Given the description of an element on the screen output the (x, y) to click on. 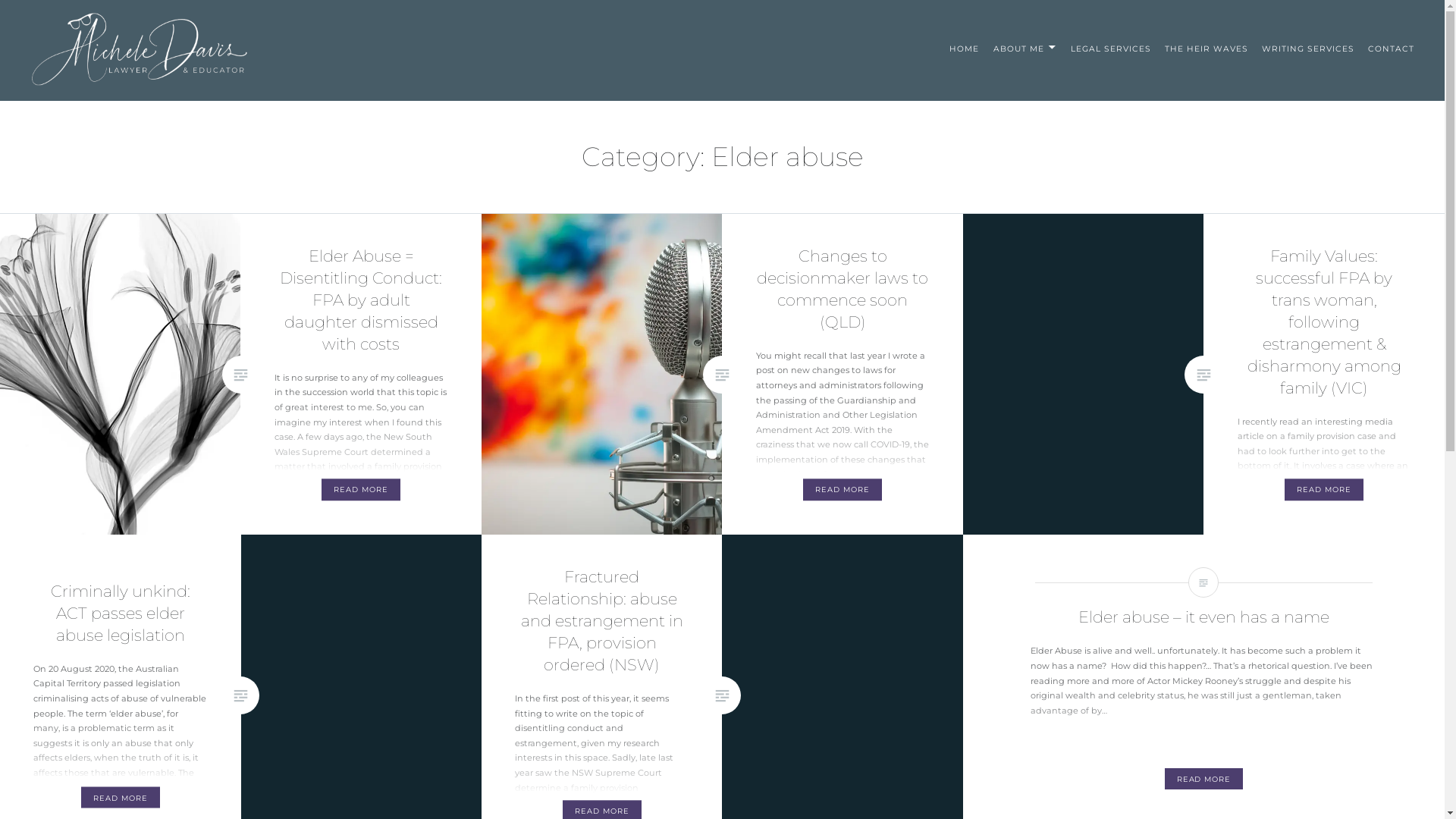
Michele Davis Element type: text (82, 98)
Changes to decisionmaker laws to commence soon (QLD) Element type: text (842, 288)
READ MORE Element type: text (1323, 490)
READ MORE Element type: text (360, 490)
READ MORE Element type: text (1203, 779)
READ MORE Element type: text (120, 797)
HOME Element type: text (964, 48)
READ MORE Element type: text (842, 490)
LEGAL SERVICES Element type: text (1110, 48)
THE HEIR WAVES Element type: text (1206, 48)
ABOUT ME Element type: text (1024, 48)
Criminally unkind: ACT passes elder abuse legislation Element type: text (120, 611)
WRITING SERVICES Element type: text (1307, 48)
CONTACT Element type: text (1391, 48)
